Given the description of an element on the screen output the (x, y) to click on. 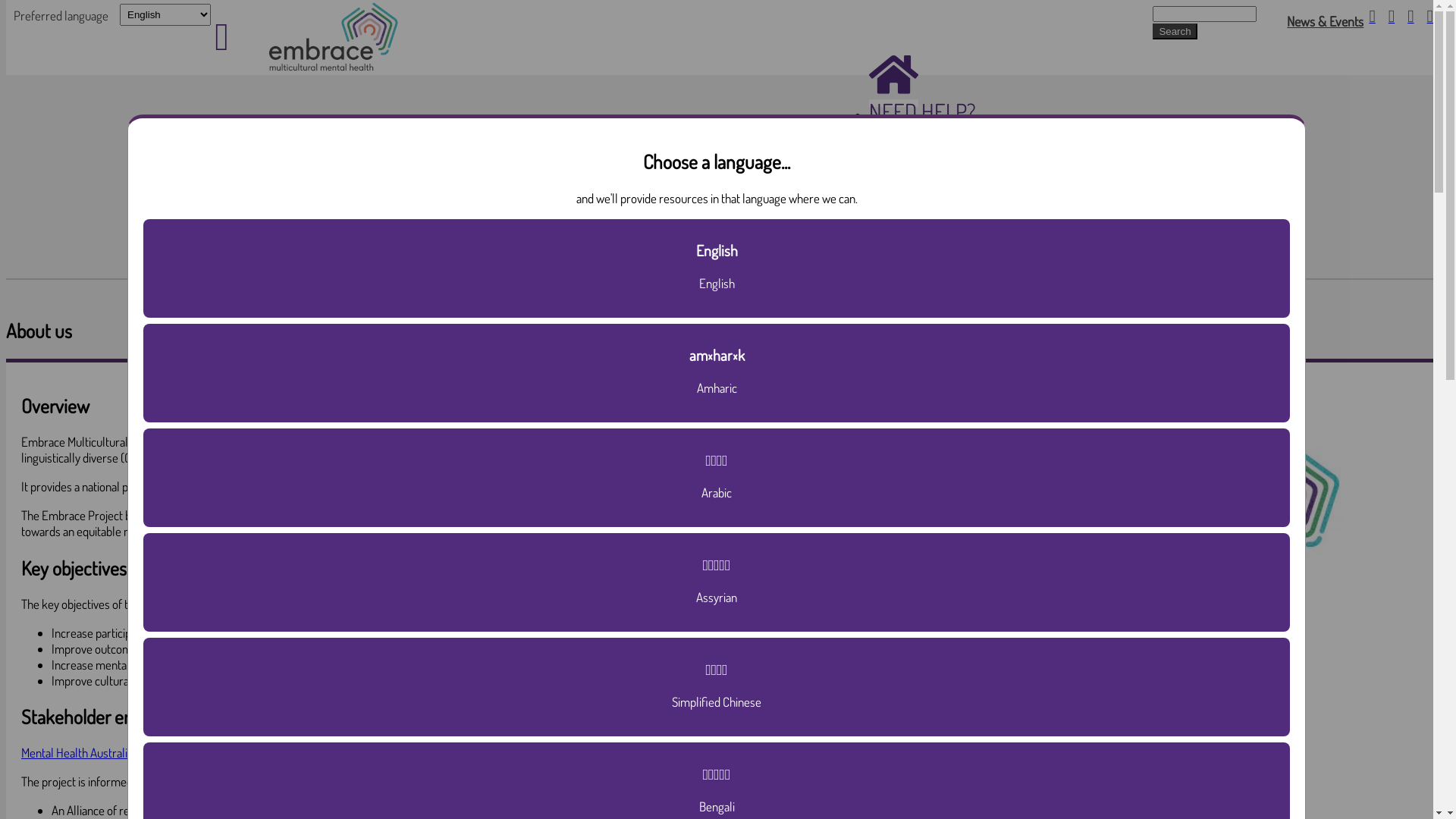
Mental Health Australia Element type: text (76, 752)
Search keywords Element type: hover (1204, 13)
Search Element type: text (1174, 31)
National Ethnic Disability Alliance (NEDA) Element type: text (681, 752)
COMMUNITY Element type: text (920, 198)
SERVICE PROVIDERS AND PHNS Element type: text (1003, 226)
FRAMEWORK Element type: text (925, 170)
NEED HELP? Element type: text (922, 114)
ABOUT US Element type: text (912, 142)
Home Element type: hover (331, 67)
News & Events Element type: text (1324, 20)
MEMBERS PORTAL Element type: text (947, 255)
